Given the description of an element on the screen output the (x, y) to click on. 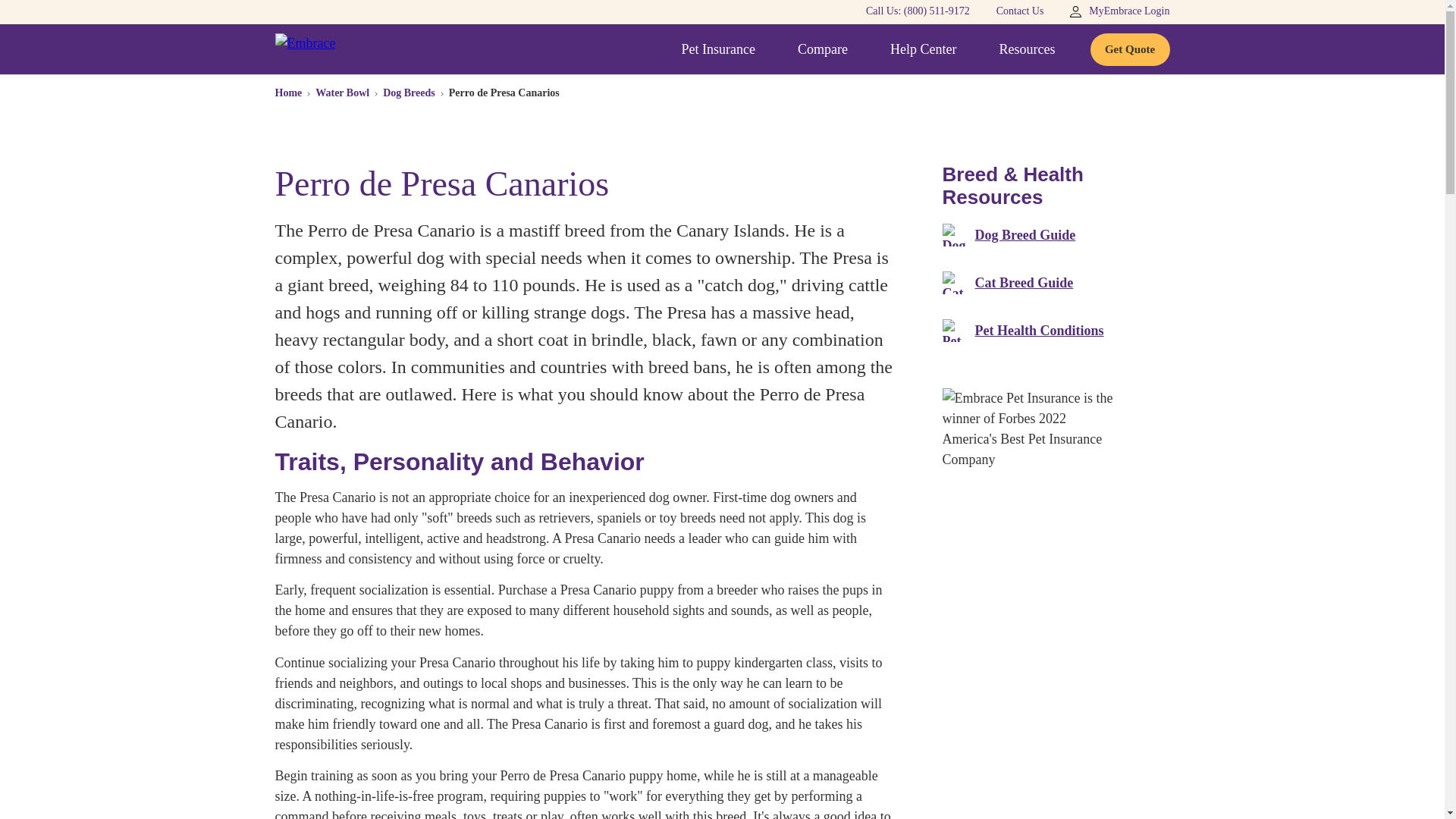
Embrace Pet Insurance (304, 49)
MyEmbrace Login (1119, 11)
Get Quote (1130, 49)
Contact Us (1019, 11)
